Given the description of an element on the screen output the (x, y) to click on. 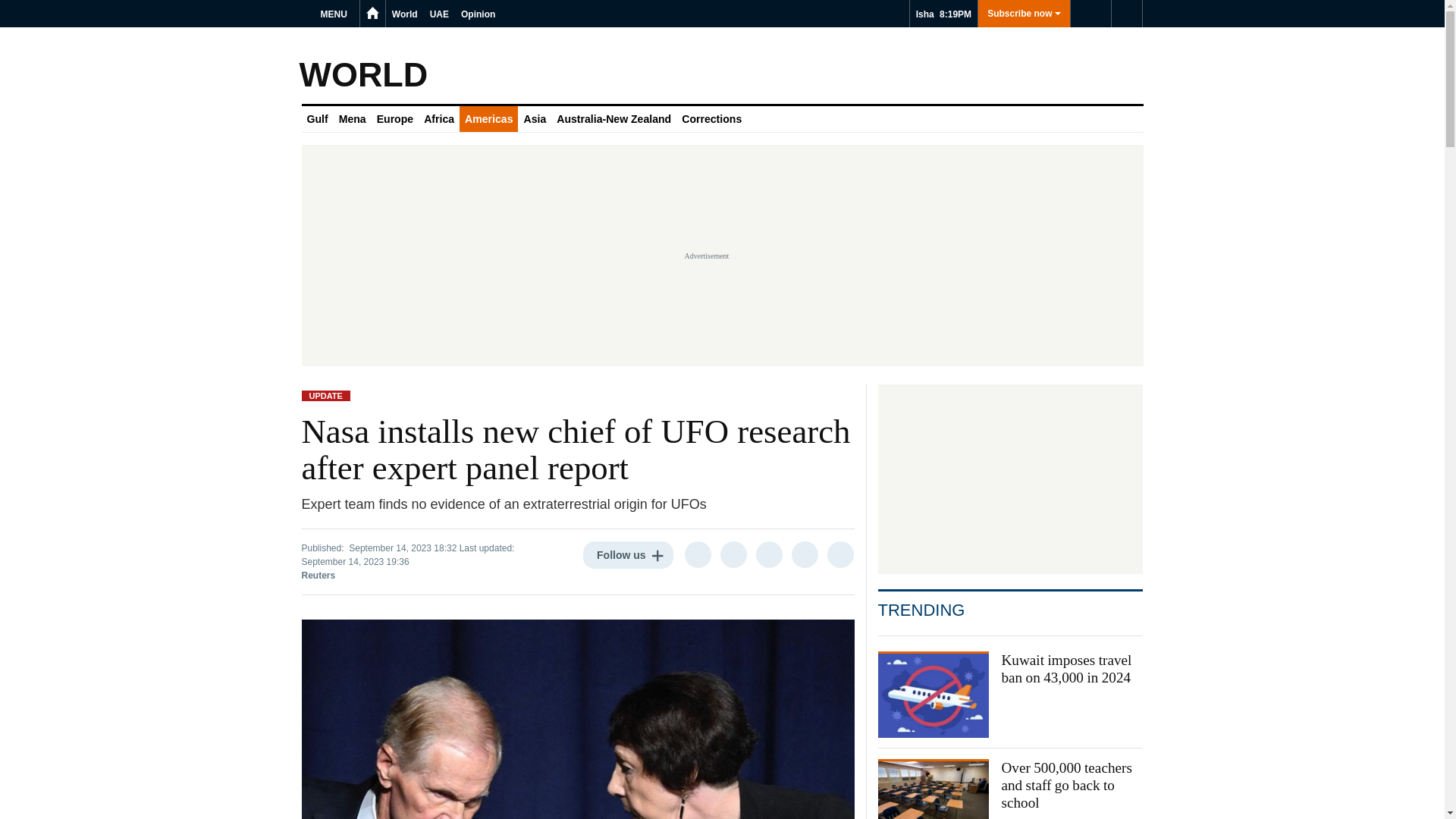
Isha 8:19PM (943, 13)
UAE (438, 13)
MENU (336, 13)
Subscribe now (1024, 13)
Opinion (477, 13)
World (404, 13)
